Given the description of an element on the screen output the (x, y) to click on. 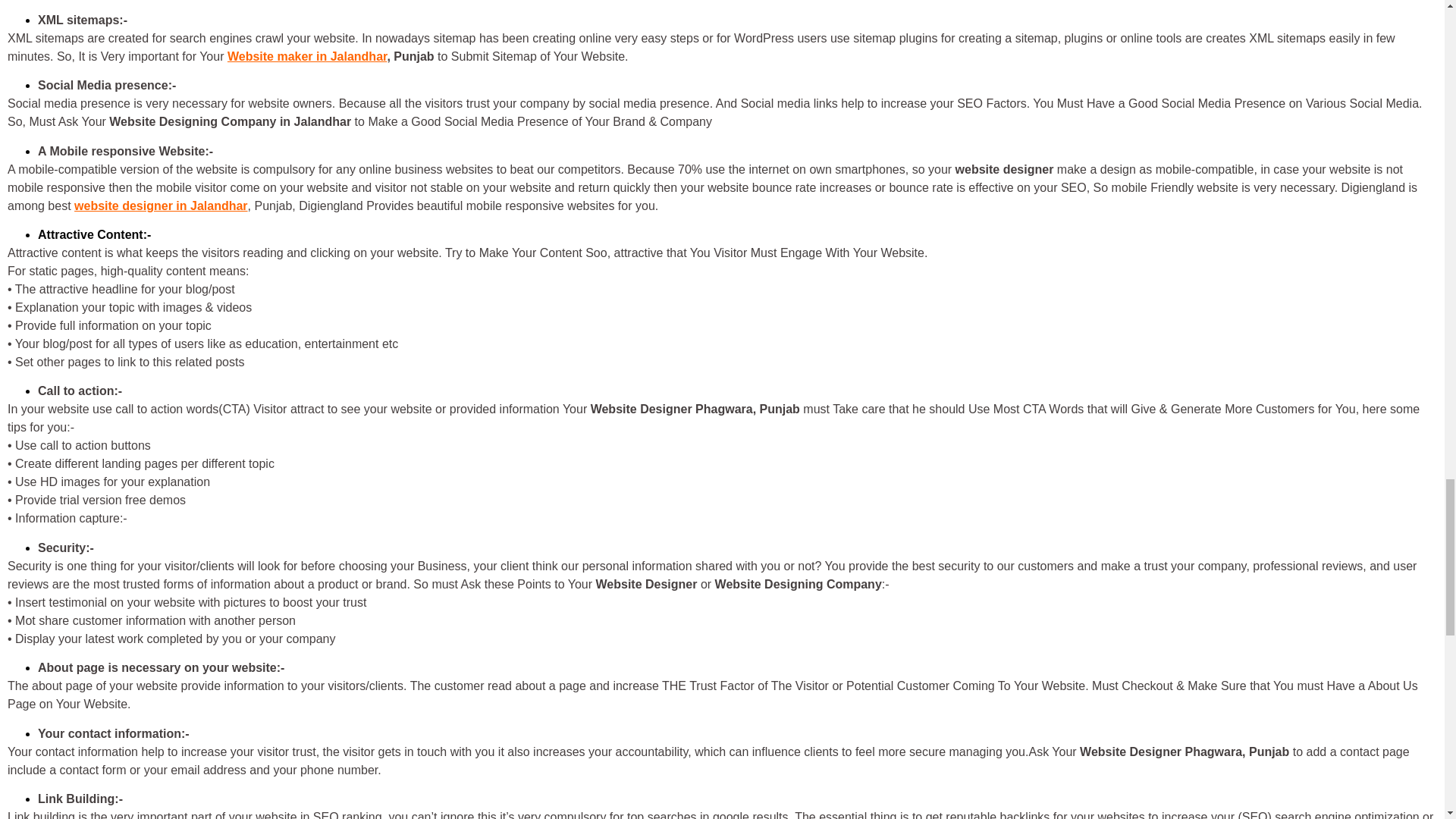
Website maker in Jalandhar (307, 56)
website designer in Jalandhar (160, 205)
